Given the description of an element on the screen output the (x, y) to click on. 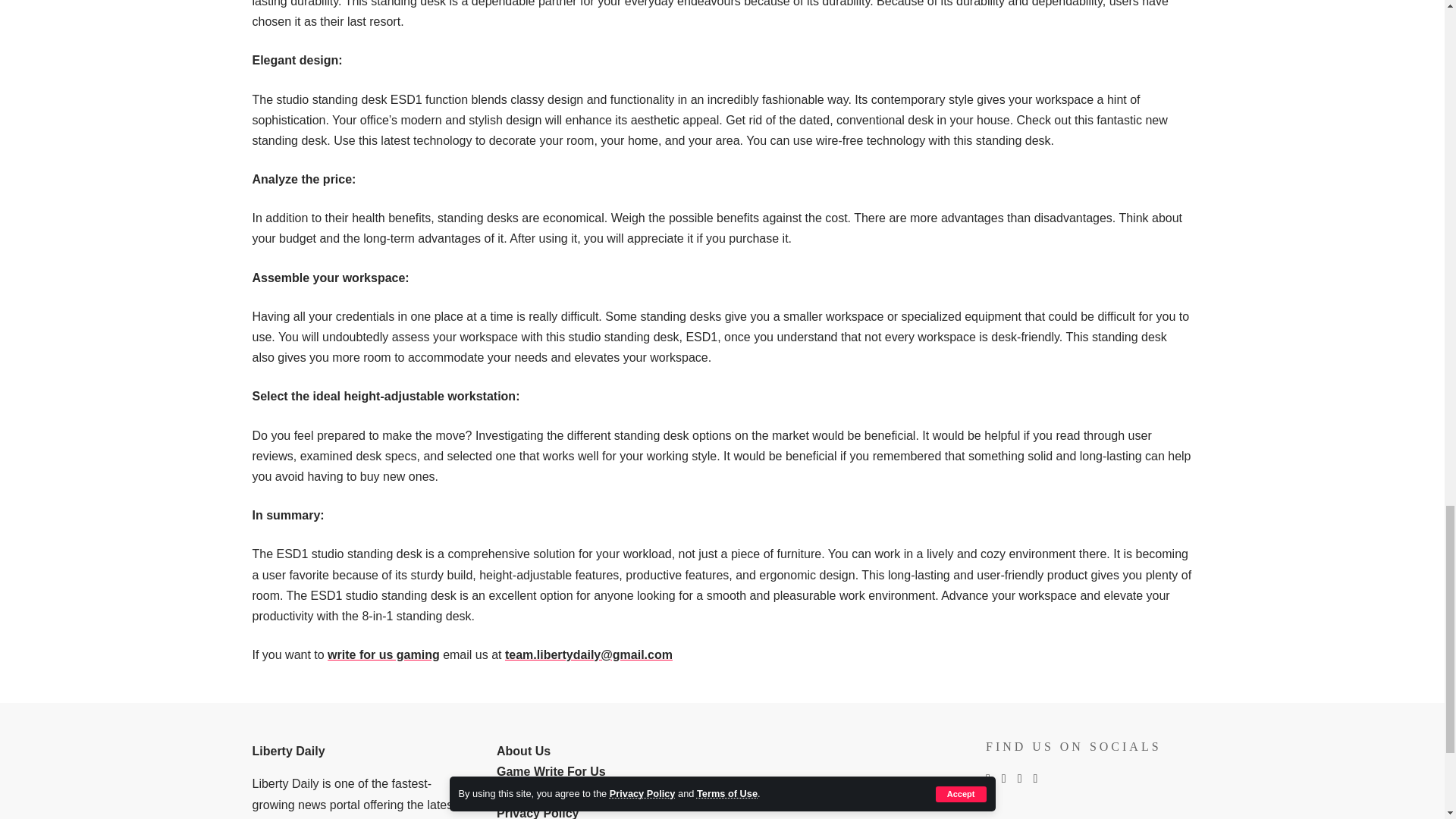
write for us gaming (383, 654)
About Us (523, 750)
Liberty Daily (287, 750)
